Given the description of an element on the screen output the (x, y) to click on. 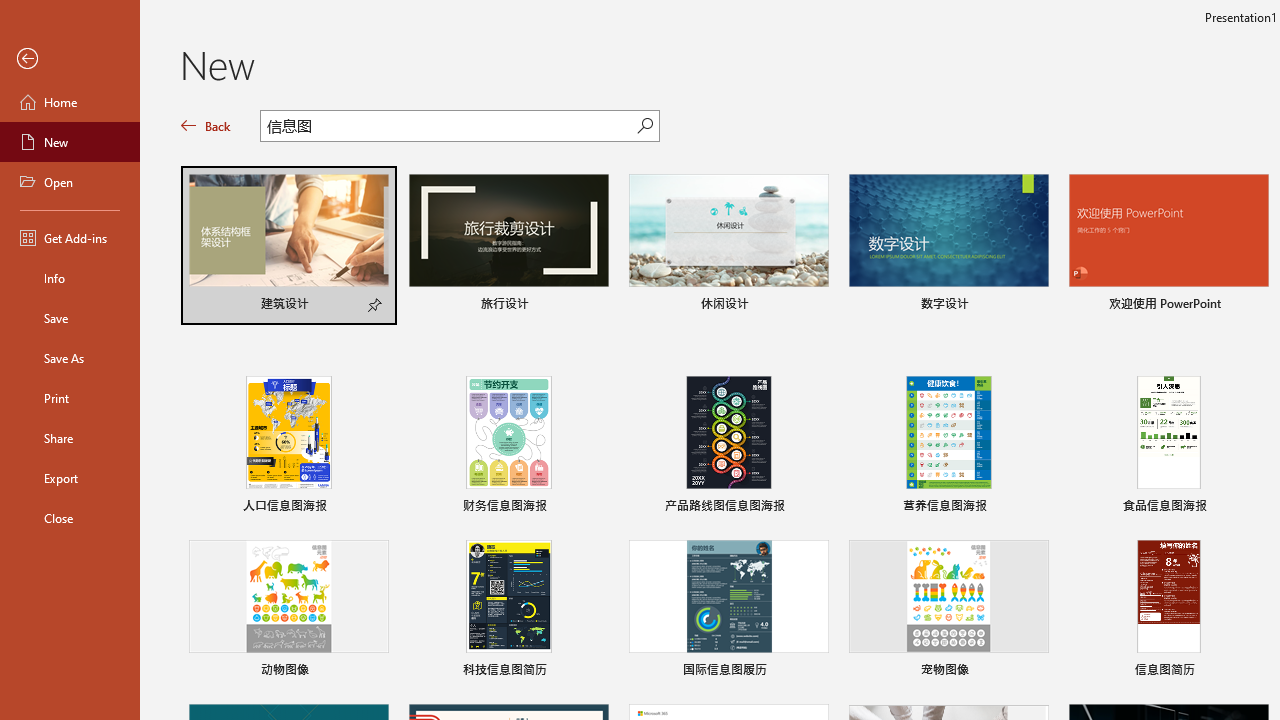
New (69, 141)
Get Add-ins (69, 237)
Back (69, 59)
Save As (69, 357)
Export (69, 477)
Start searching (645, 125)
